Given the description of an element on the screen output the (x, y) to click on. 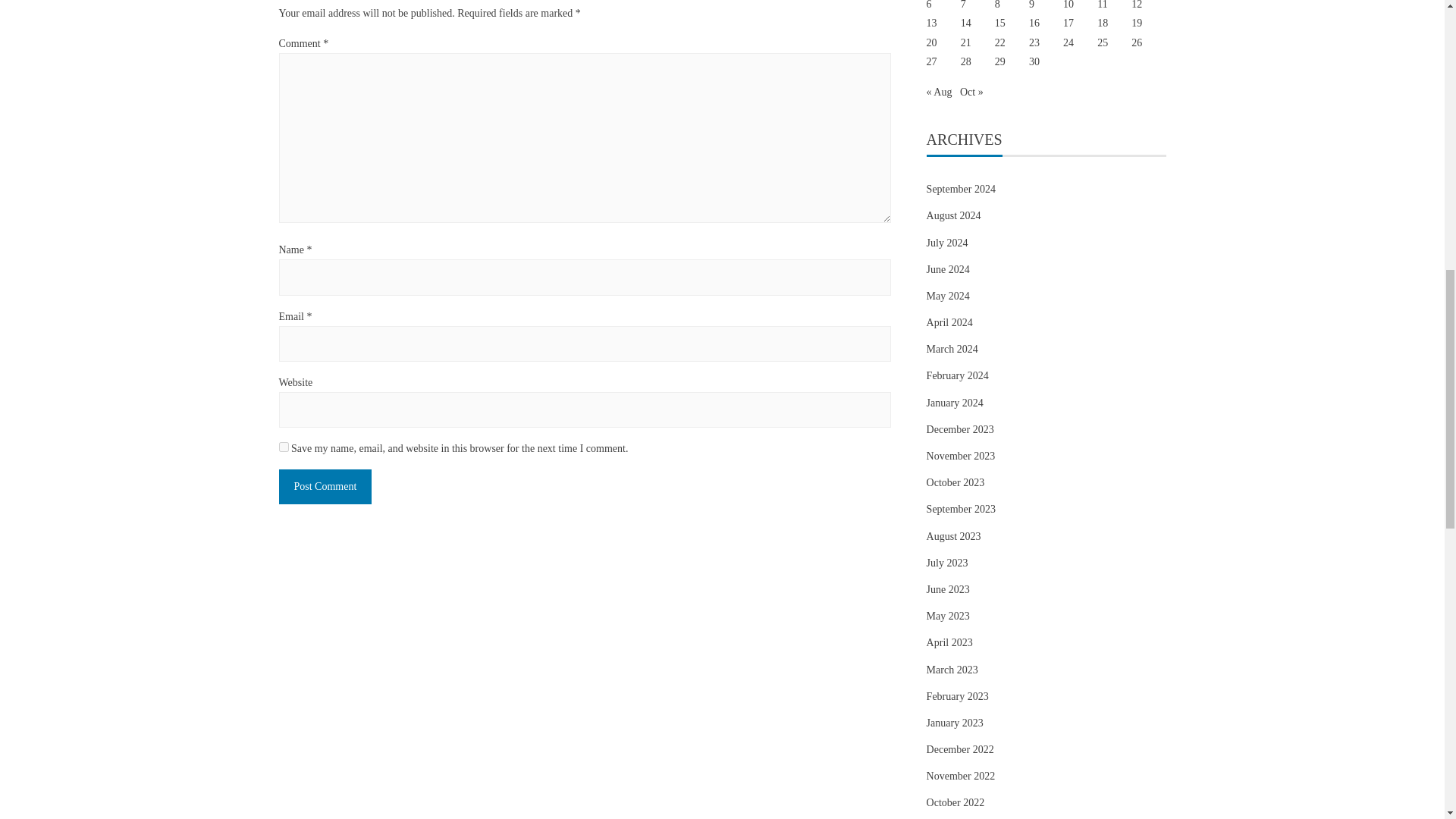
18 (1102, 22)
23 (1034, 42)
30 (1034, 61)
24 (1068, 42)
Post Comment (325, 486)
Post Comment (325, 486)
28 (965, 61)
15 (1000, 22)
yes (283, 447)
13 (931, 22)
